Given the description of an element on the screen output the (x, y) to click on. 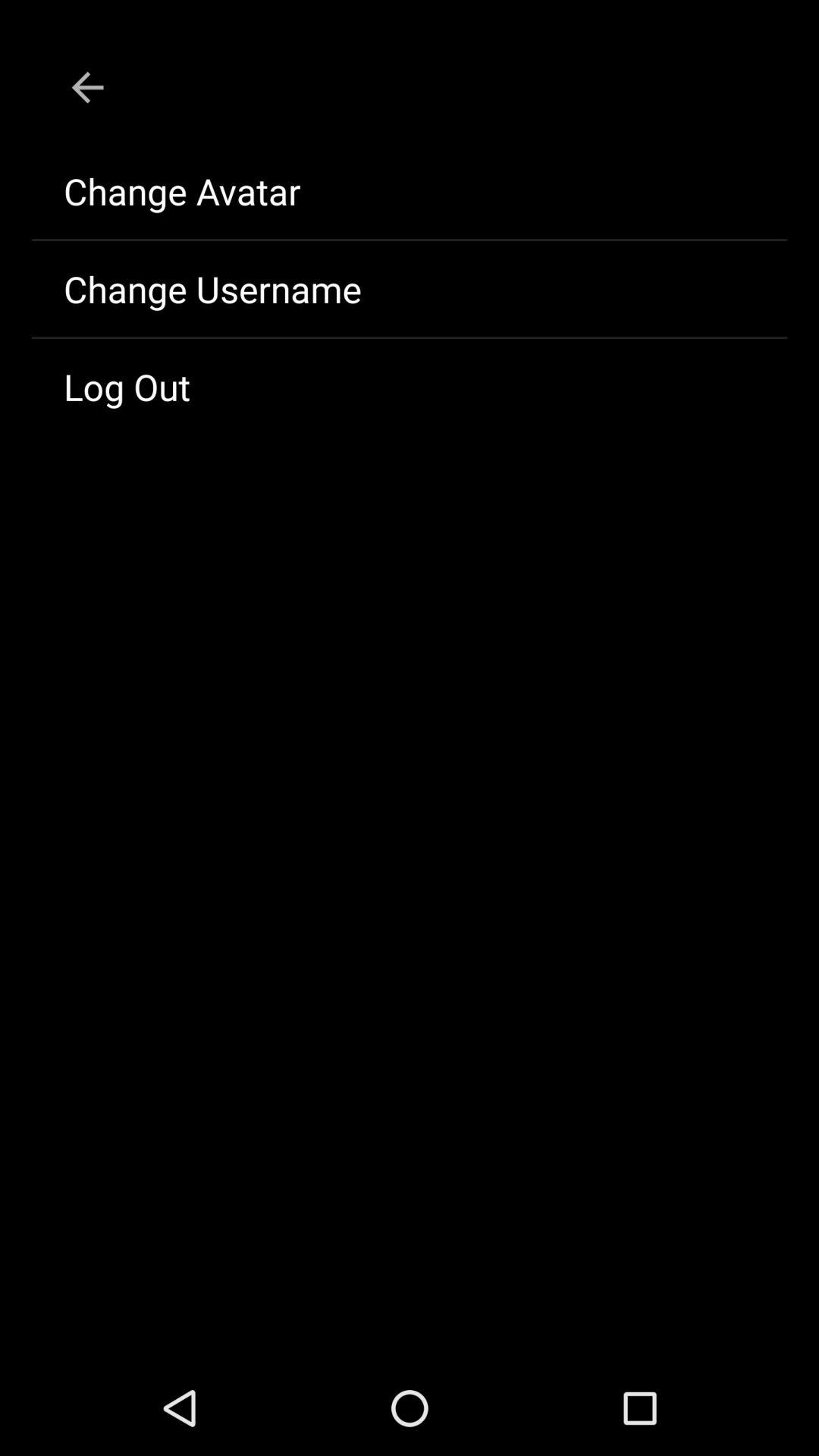
jump to the change avatar (409, 190)
